Given the description of an element on the screen output the (x, y) to click on. 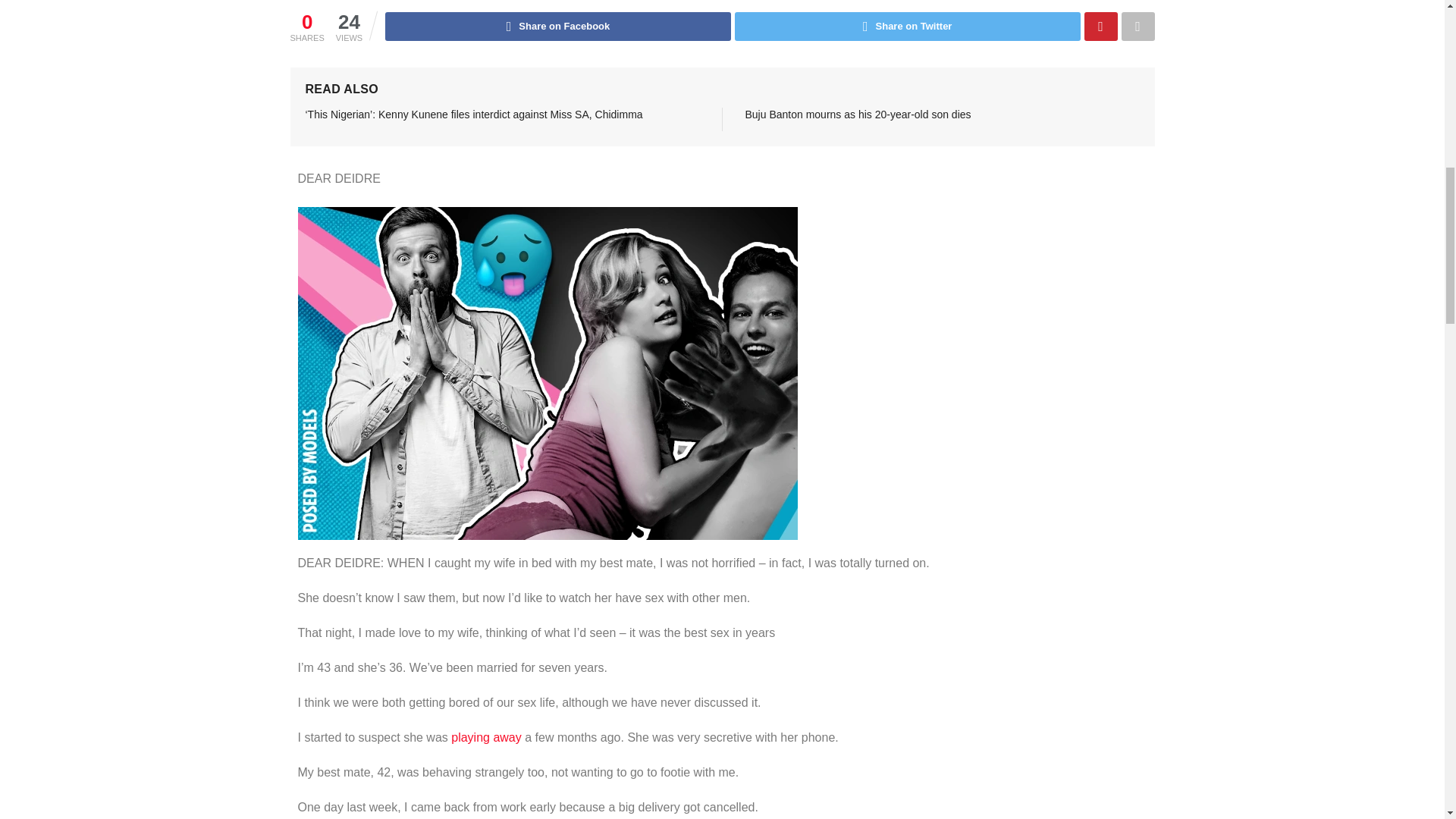
playing away (486, 737)
Share on Facebook (557, 26)
Share on Twitter (907, 26)
Buju Banton mourns as his 20-year-old son dies  (859, 114)
